Given the description of an element on the screen output the (x, y) to click on. 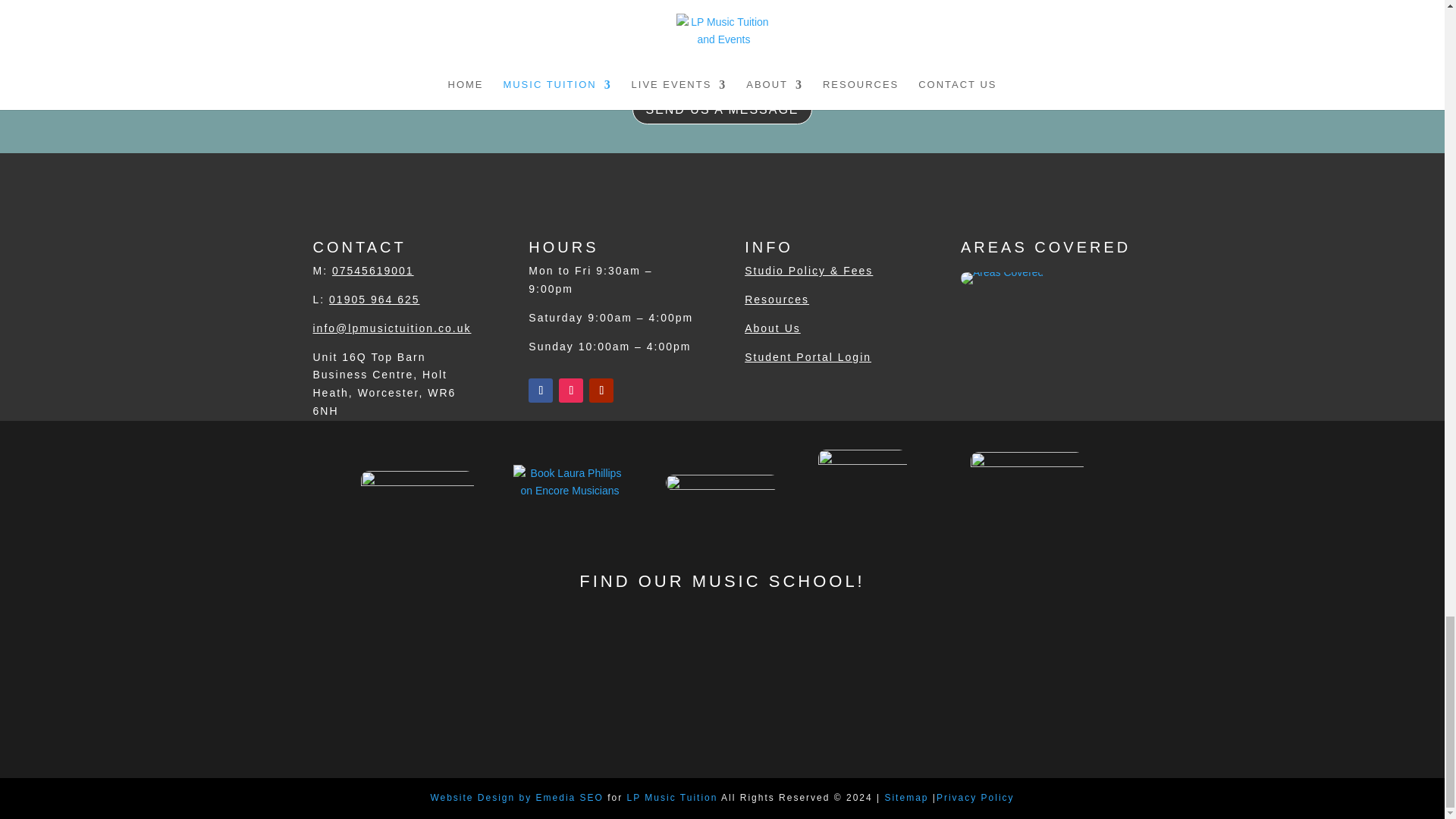
abrsm-red-logo-print (862, 482)
Follow on Facebook (540, 390)
music mark (1027, 482)
Follow on Youtube (600, 390)
01905 964 625 (374, 299)
Follow on Instagram (571, 390)
07545619001 (372, 270)
Classical-Wte (721, 482)
Areas Covered (1001, 280)
SEND US A MESSAGE (720, 109)
